Given the description of an element on the screen output the (x, y) to click on. 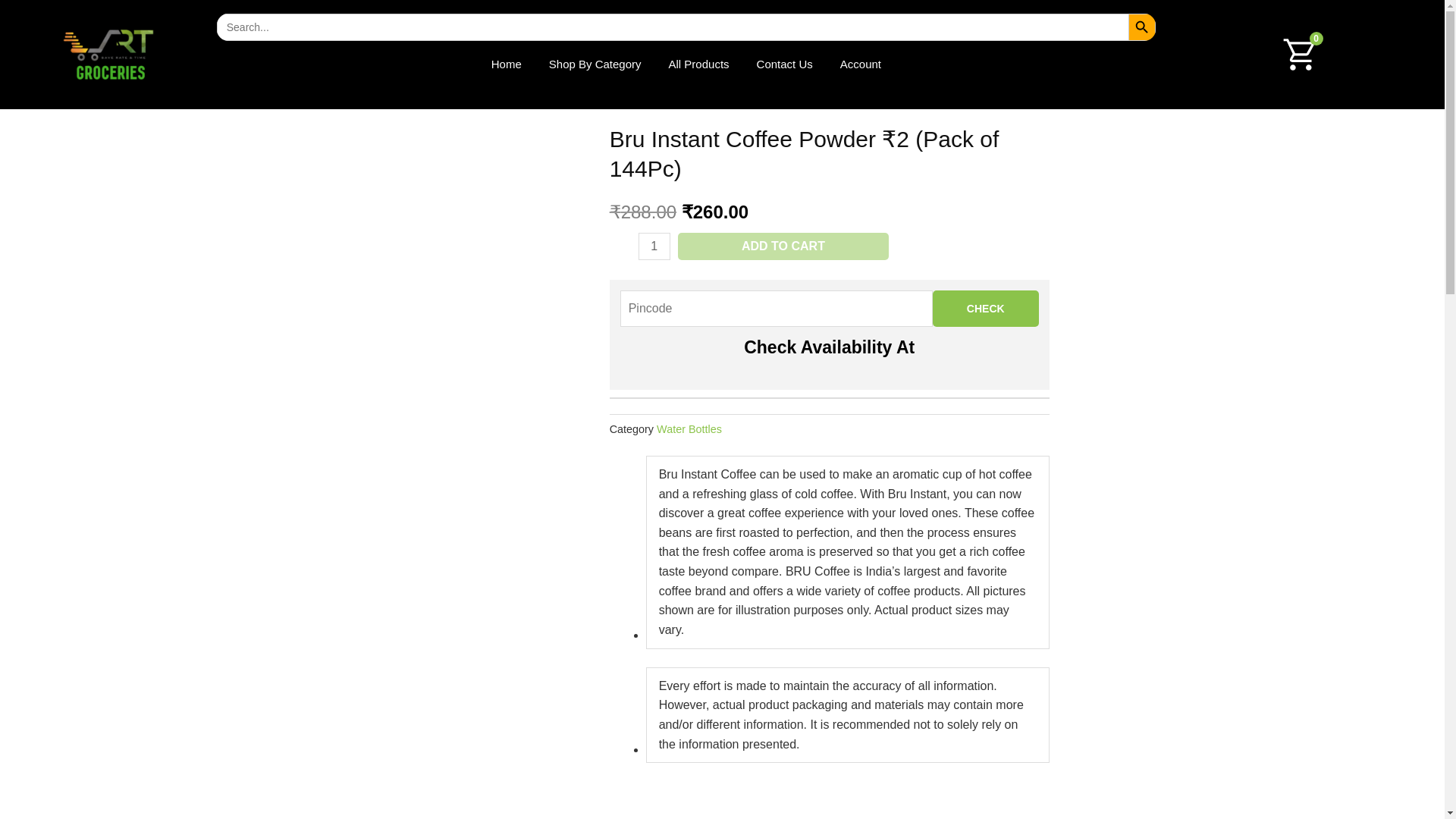
1 (654, 246)
Check (986, 308)
Home (506, 64)
SEARCH BUTTON (1142, 26)
Shop By Category (595, 64)
